Given the description of an element on the screen output the (x, y) to click on. 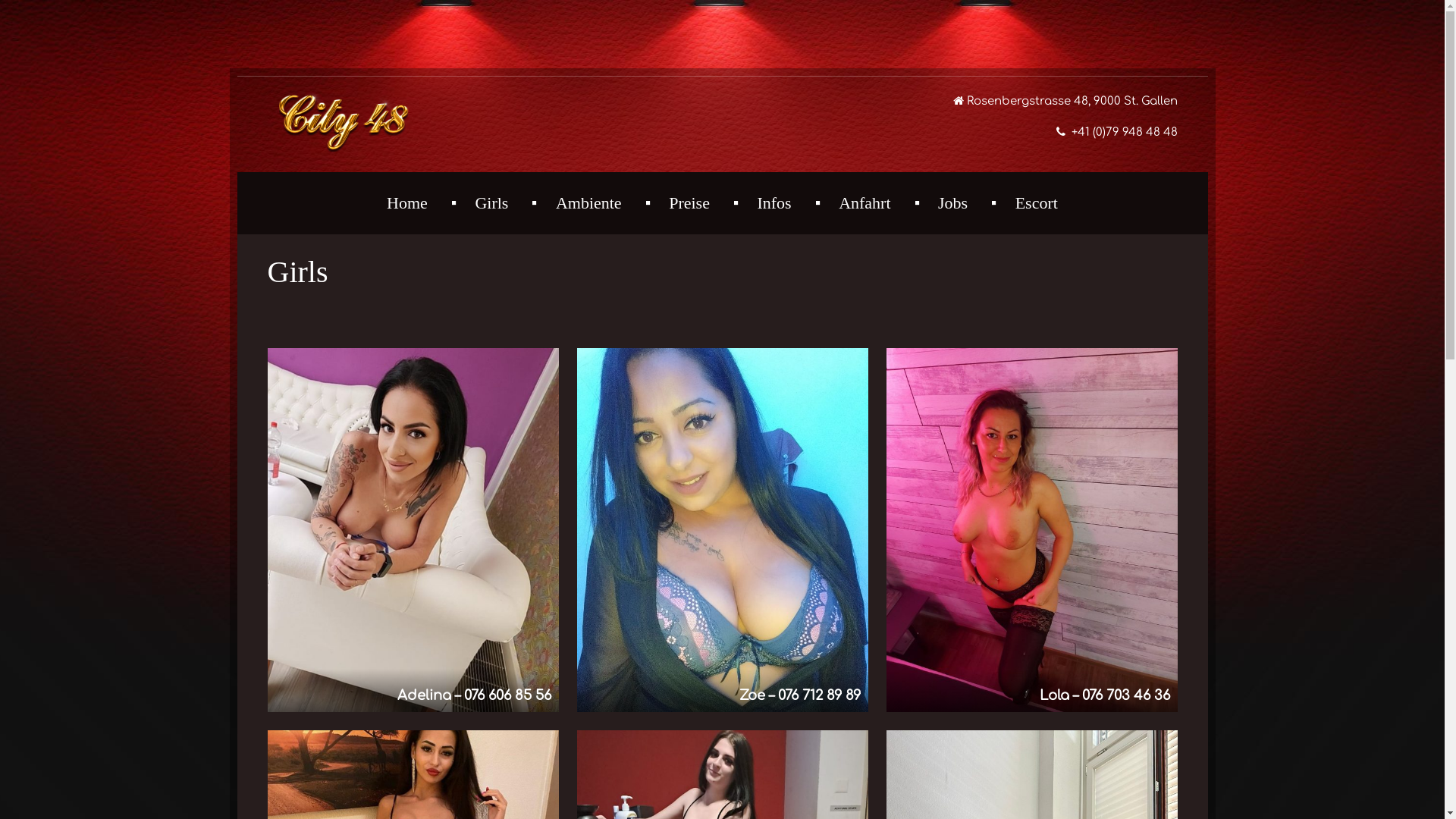
Anfahrt Element type: text (864, 203)
Jobs Element type: text (952, 203)
Infos Element type: text (773, 203)
Escort Element type: text (1036, 203)
Preise Element type: text (689, 203)
Girls Element type: text (490, 203)
Ambiente Element type: text (588, 203)
Home Element type: text (407, 203)
